Given the description of an element on the screen output the (x, y) to click on. 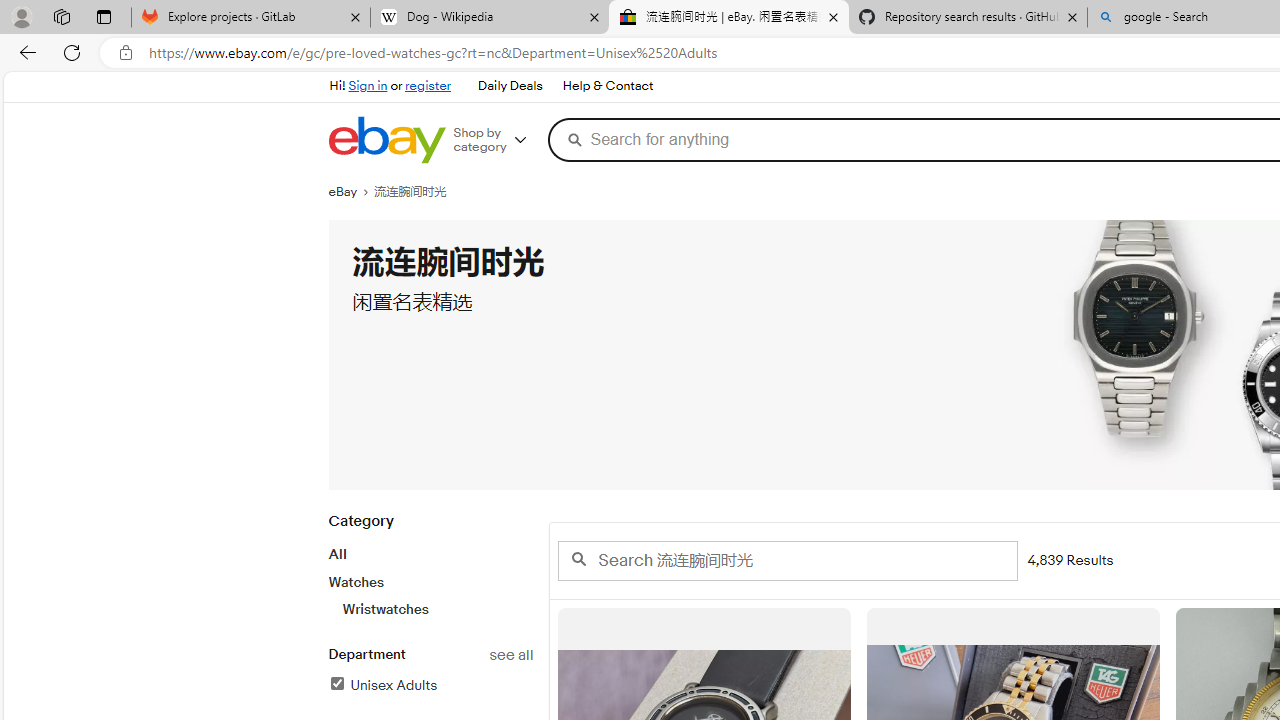
Shop by category (496, 140)
See all department refinements (510, 655)
AllWatchesWristwatches (430, 581)
